Given the description of an element on the screen output the (x, y) to click on. 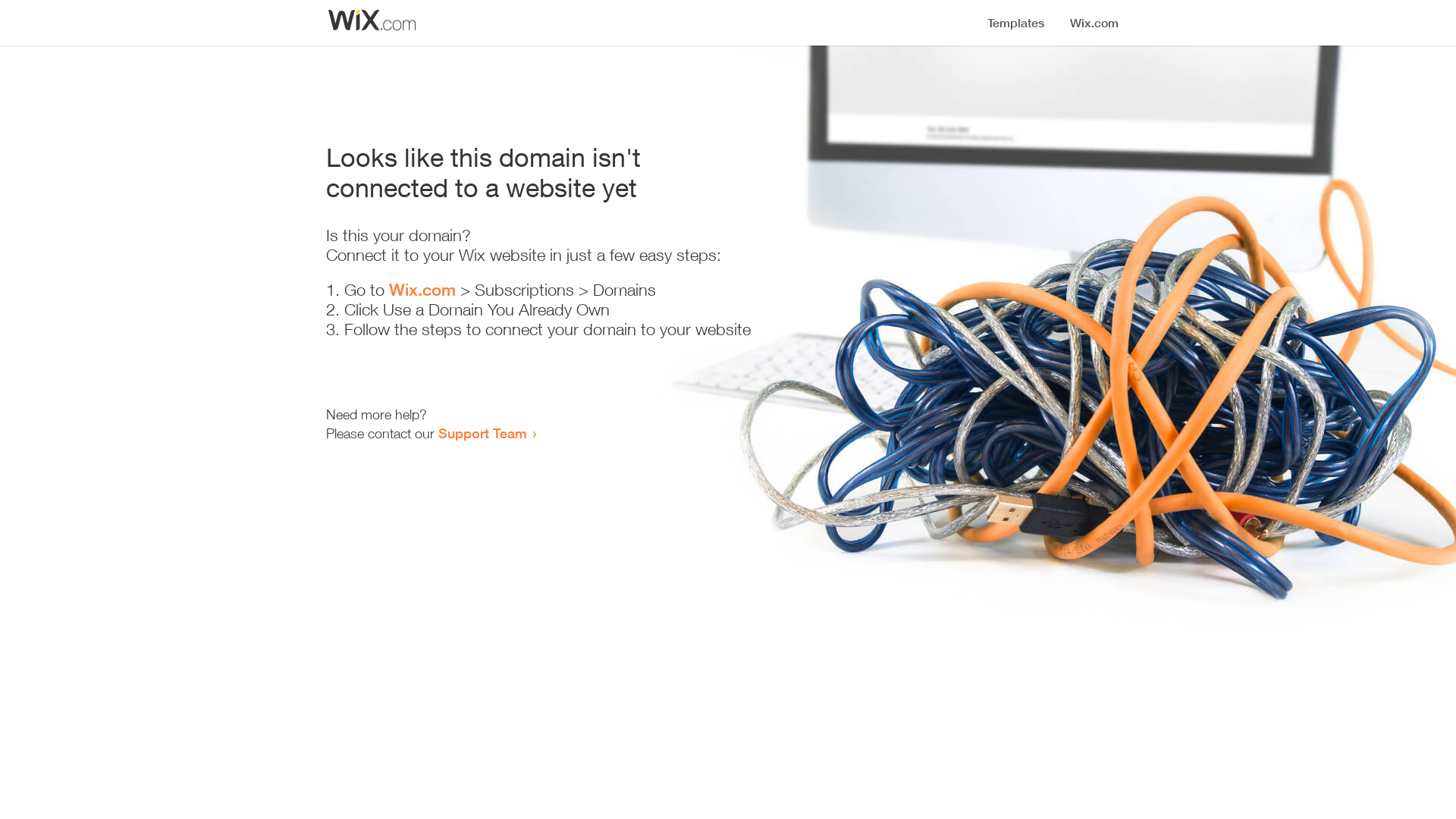
Wix.com Element type: text (422, 289)
Support Team Element type: text (482, 432)
